Given the description of an element on the screen output the (x, y) to click on. 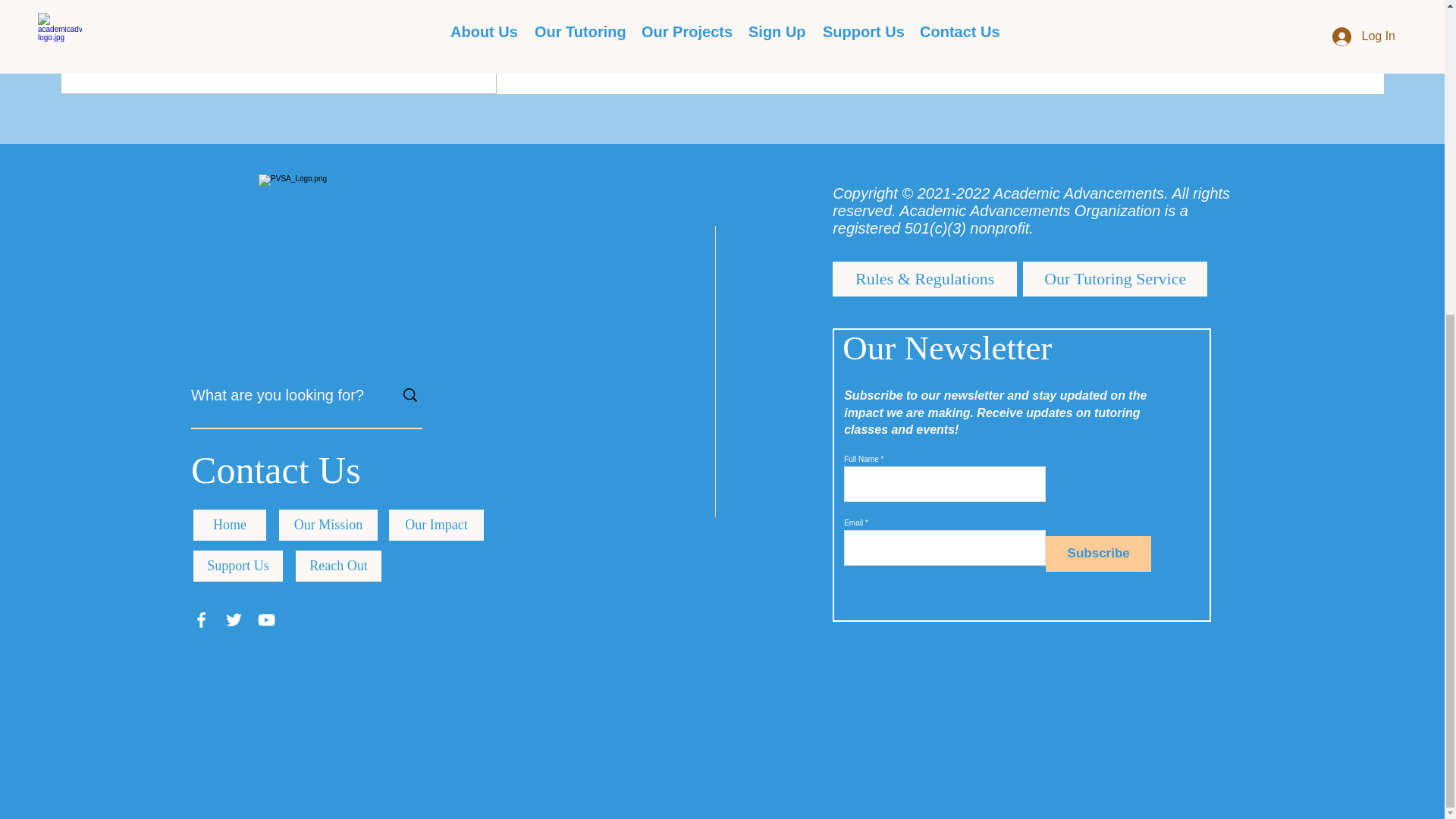
Subscribe (1098, 553)
Home (229, 524)
Our Tutoring Service (1115, 278)
Support Us (237, 565)
Reach Out (338, 565)
Our Mission (328, 524)
Our Impact (435, 524)
